Given the description of an element on the screen output the (x, y) to click on. 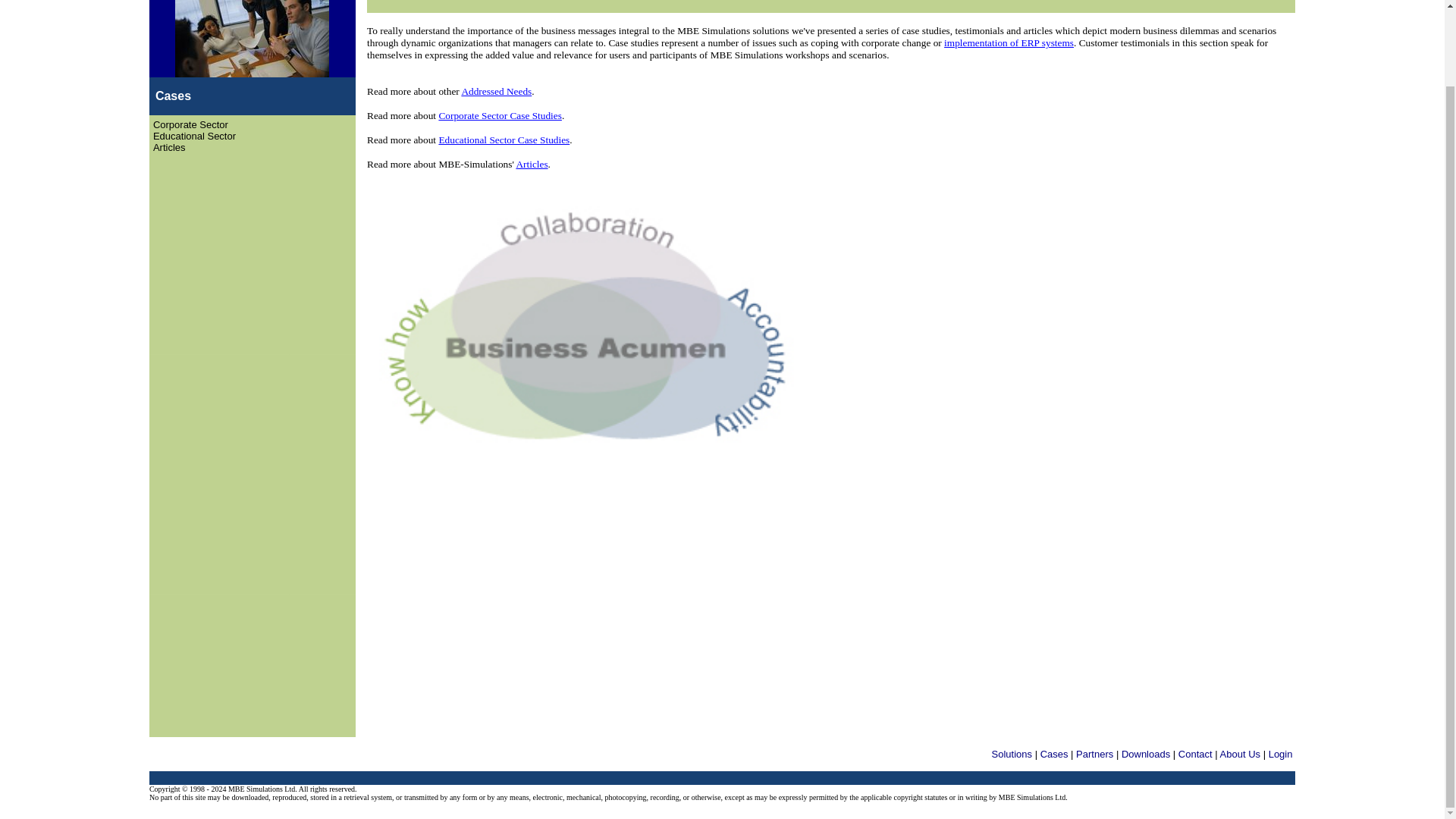
Corporate Sector (190, 124)
Login (1280, 754)
implementation of ERP systems (1008, 42)
Articles (531, 163)
Cases (1054, 754)
Contact (1194, 754)
Solutions (1011, 754)
Articles (169, 147)
Addressed Needs (496, 91)
Educational Sector Case Studies (503, 139)
